Given the description of an element on the screen output the (x, y) to click on. 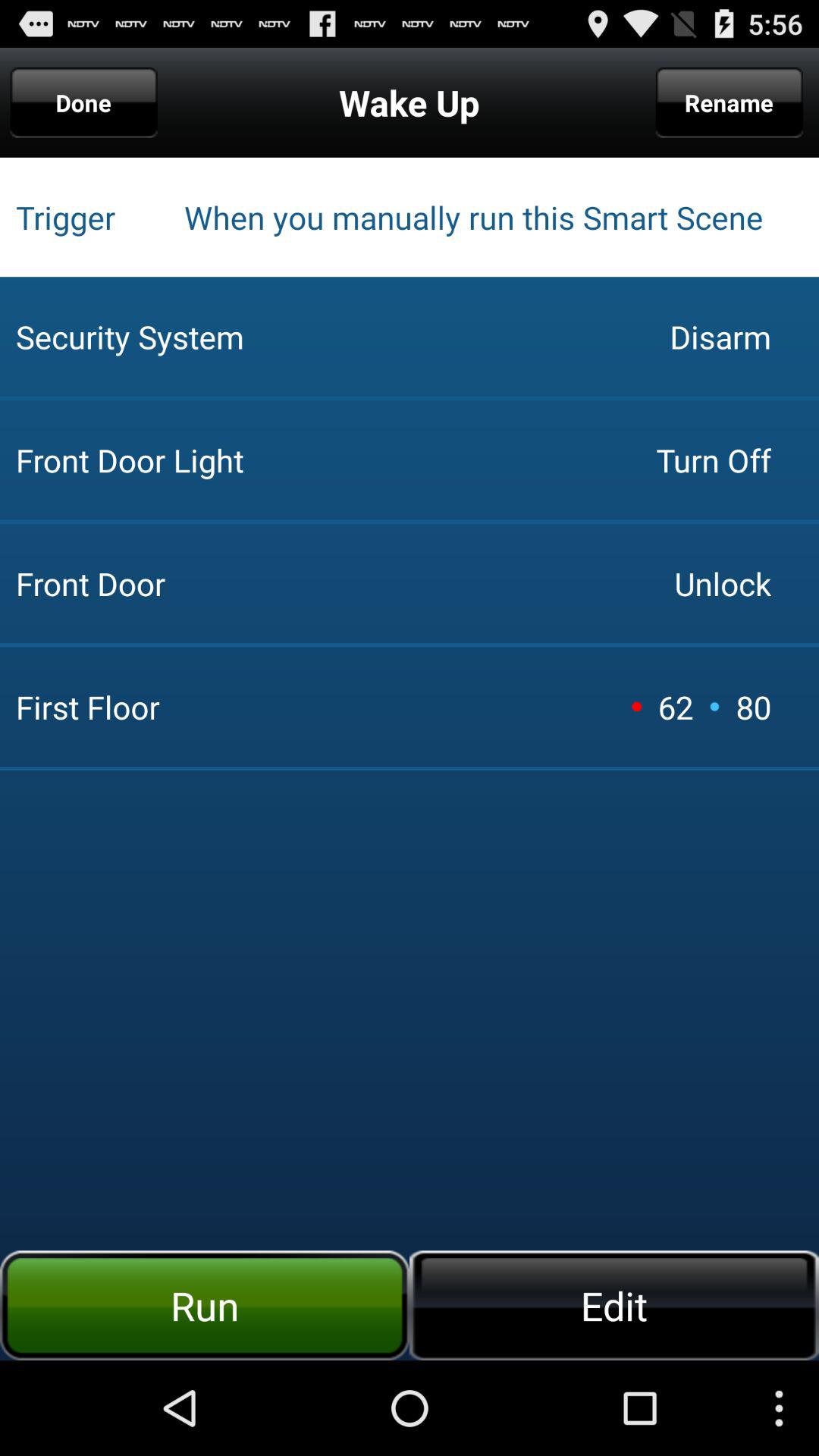
select the app above front door icon (713, 459)
